Given the description of an element on the screen output the (x, y) to click on. 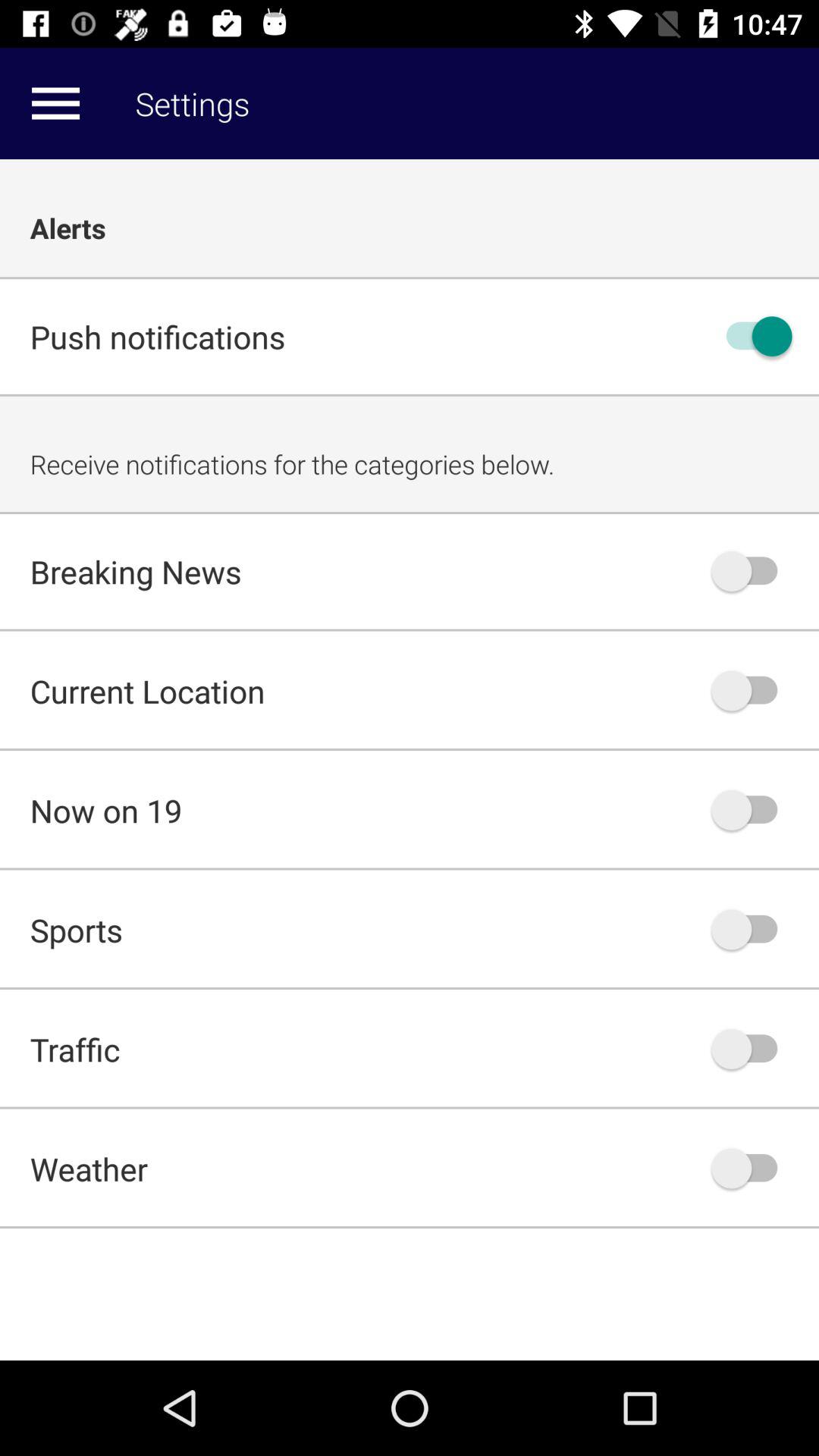
toggle off (751, 336)
